Given the description of an element on the screen output the (x, y) to click on. 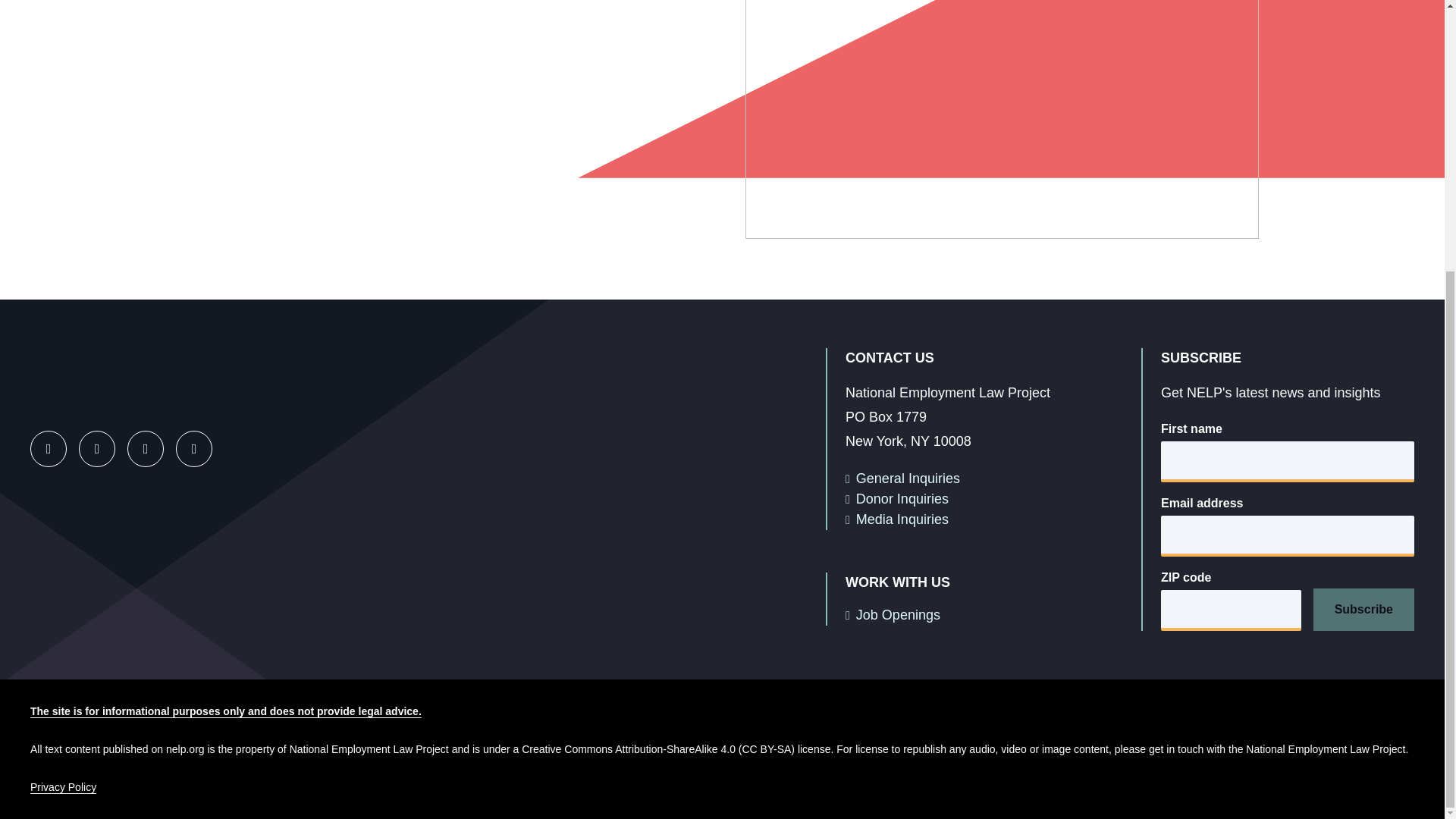
5-digit ZIP code (1230, 609)
